Given the description of an element on the screen output the (x, y) to click on. 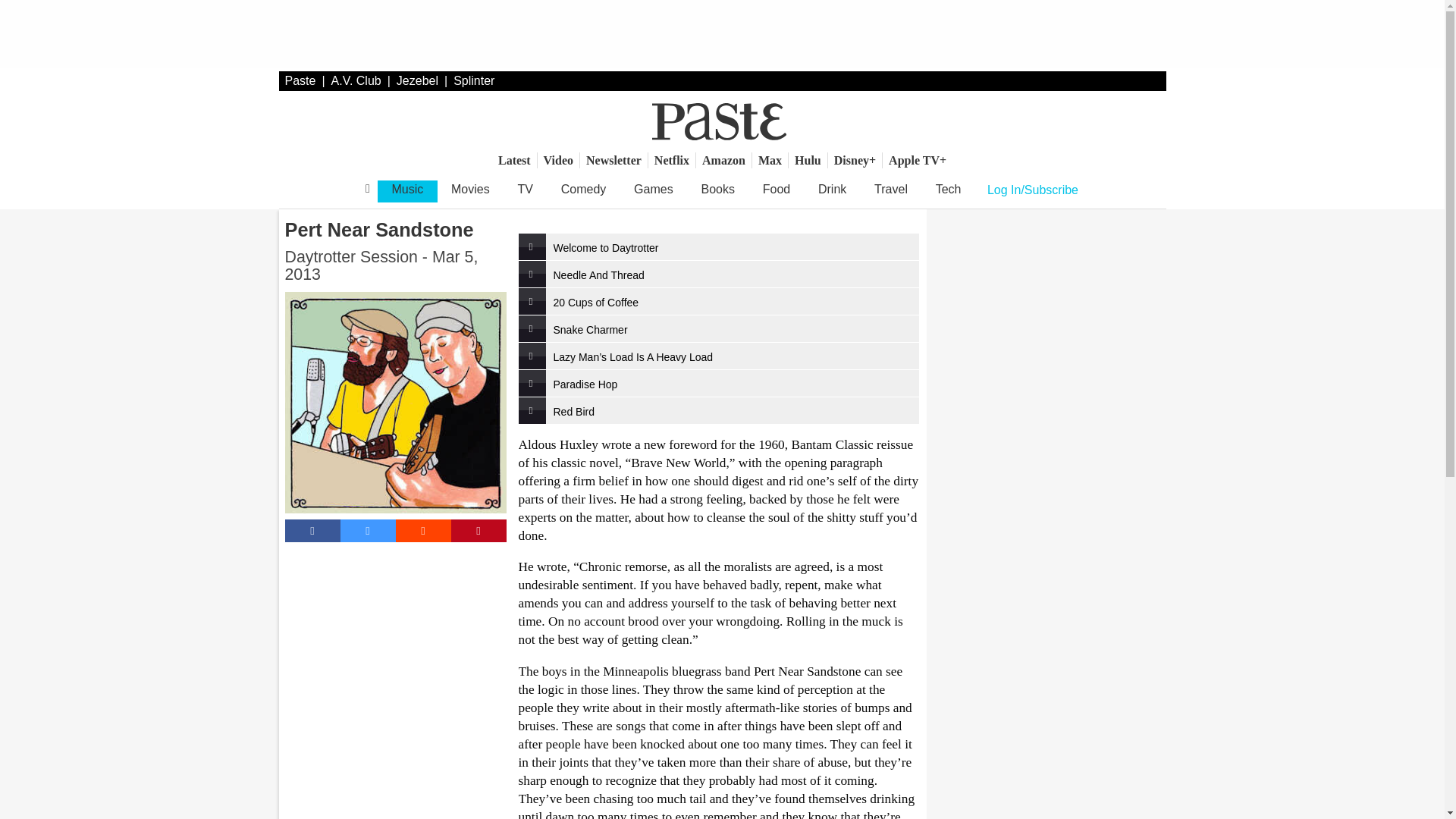
Amazon (723, 160)
Splinter (473, 80)
Welcome to Daytrotter (718, 246)
Snake Charmer (718, 328)
20 Cups of Coffee (718, 301)
Netflix (671, 160)
Max (769, 160)
A.V. Club (356, 80)
Paste (300, 80)
Red Bird (718, 410)
Lazy Man's Load Is A Heavy Load (718, 356)
Latest (514, 160)
Hulu (808, 160)
Paradise Hop (718, 383)
Jezebel (417, 80)
